Given the description of an element on the screen output the (x, y) to click on. 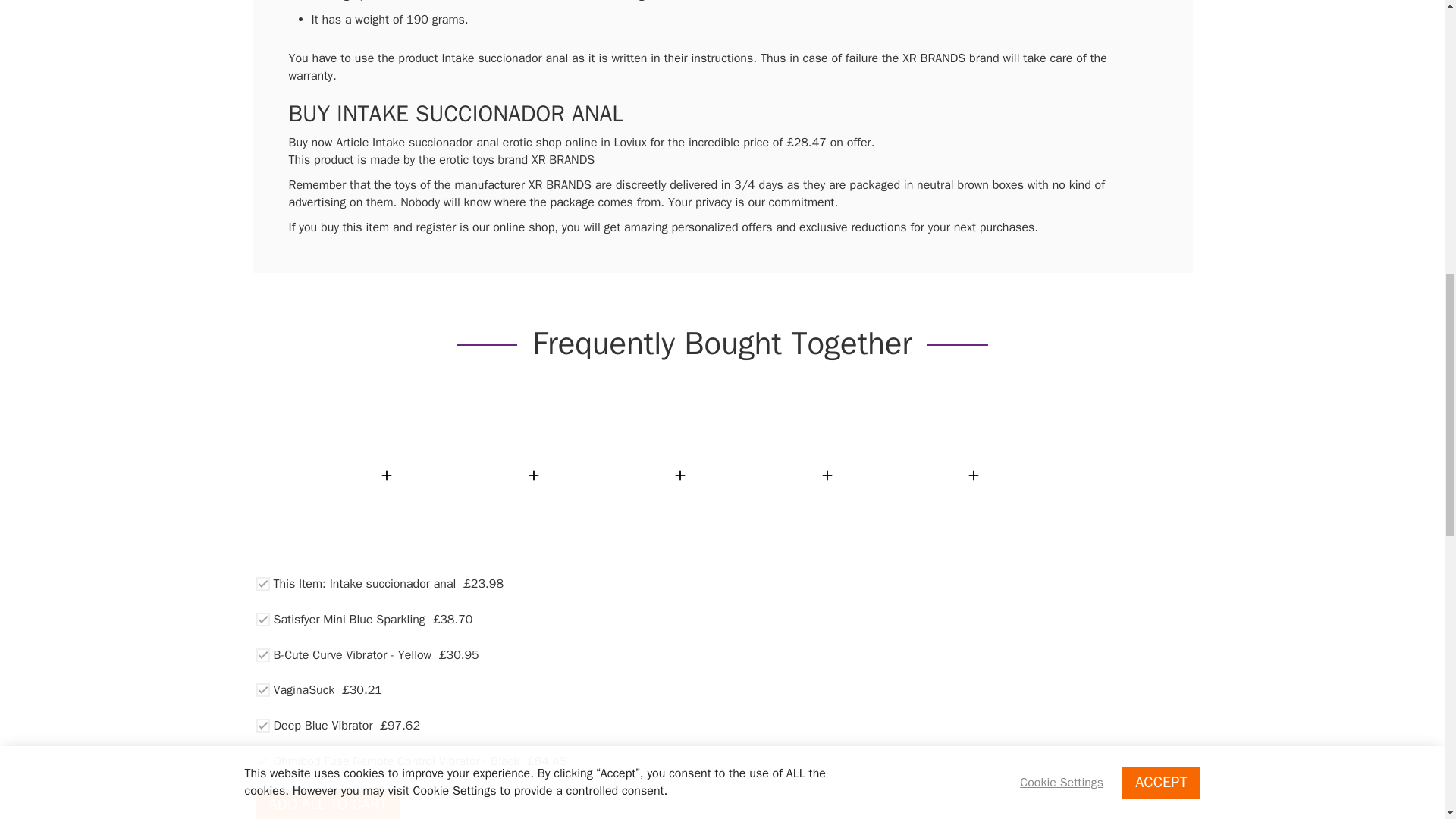
76441 (262, 654)
75588 (262, 761)
4003 (262, 689)
57631 (262, 583)
75845 (262, 619)
76113 (262, 725)
